Given the description of an element on the screen output the (x, y) to click on. 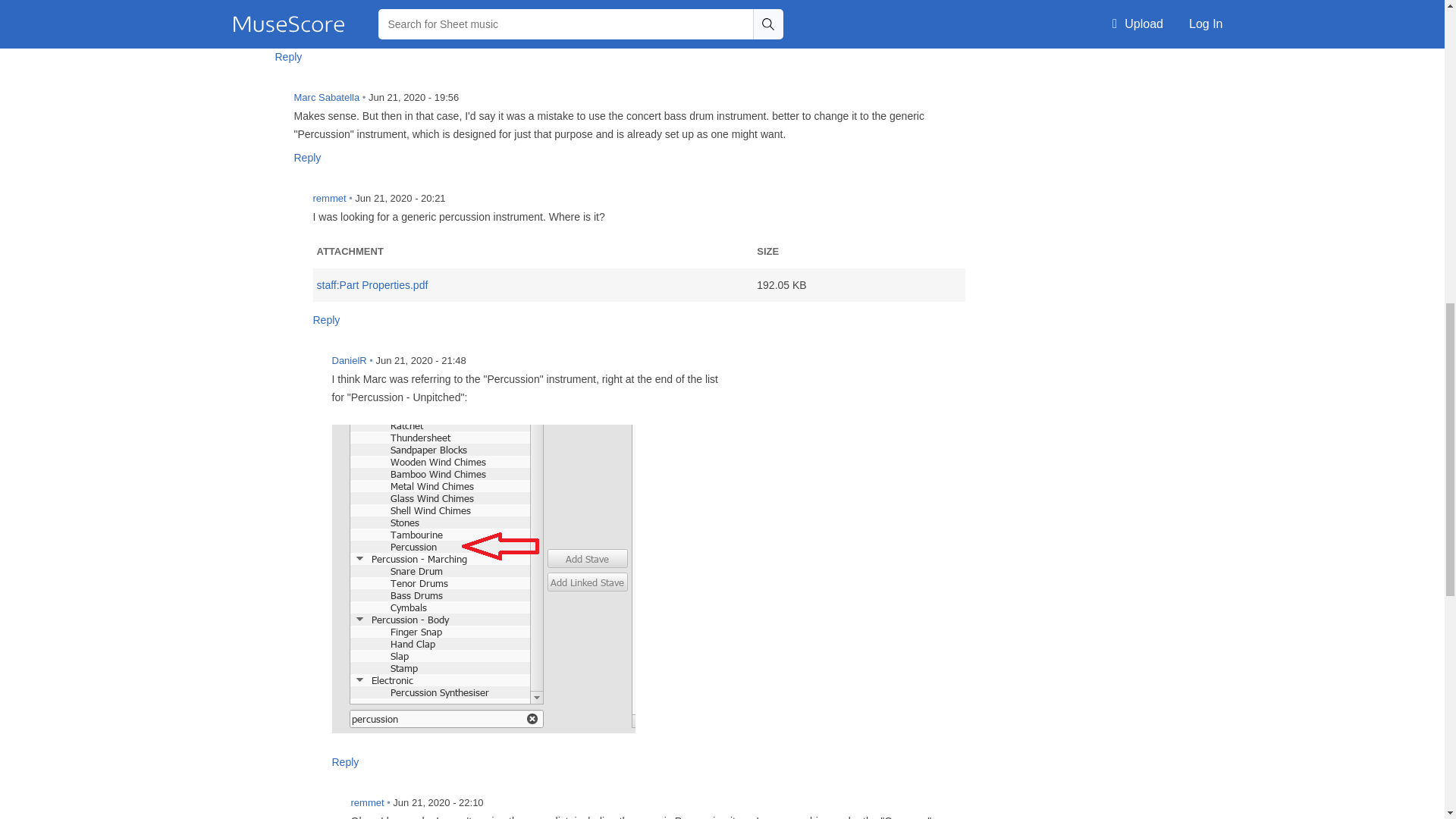
Marc Sabatella (266, 106)
MuseScore Percussion instrument.png (482, 579)
remmet (323, 807)
DanielR (304, 369)
remmet (285, 207)
